Given the description of an element on the screen output the (x, y) to click on. 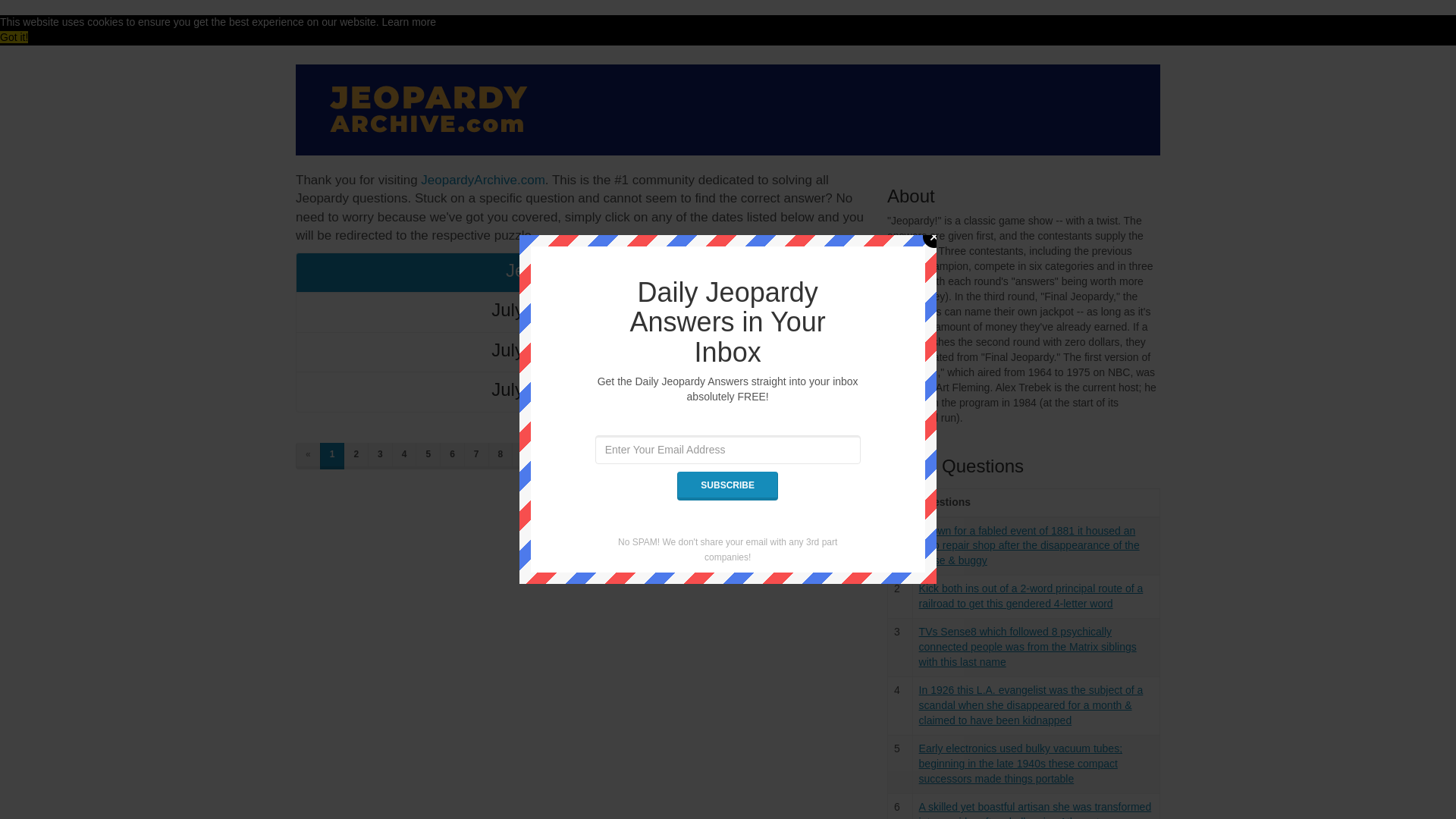
4 (403, 456)
July 19 2024 Answers (579, 391)
July 23 2024 Answers (579, 311)
3 (380, 456)
Close (933, 236)
390 (555, 456)
Subscribe (727, 485)
2 (355, 456)
Learn more (408, 21)
July 22 2024 Answers (579, 352)
5 (427, 456)
JeopardyArchive.com (482, 179)
6 (451, 456)
